Given the description of an element on the screen output the (x, y) to click on. 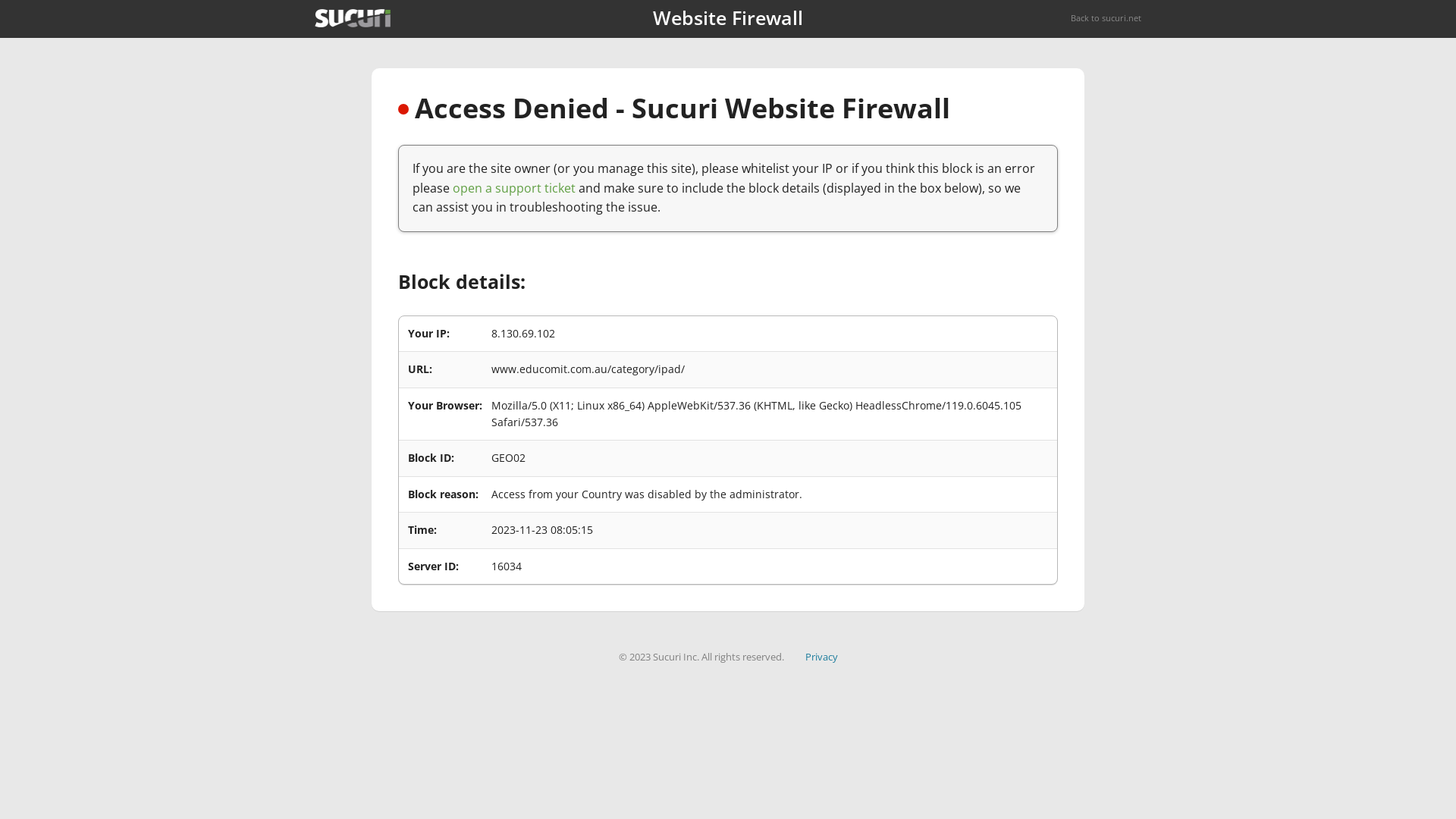
Back to sucuri.net Element type: text (1105, 18)
open a support ticket Element type: text (513, 187)
Privacy Element type: text (821, 656)
